Given the description of an element on the screen output the (x, y) to click on. 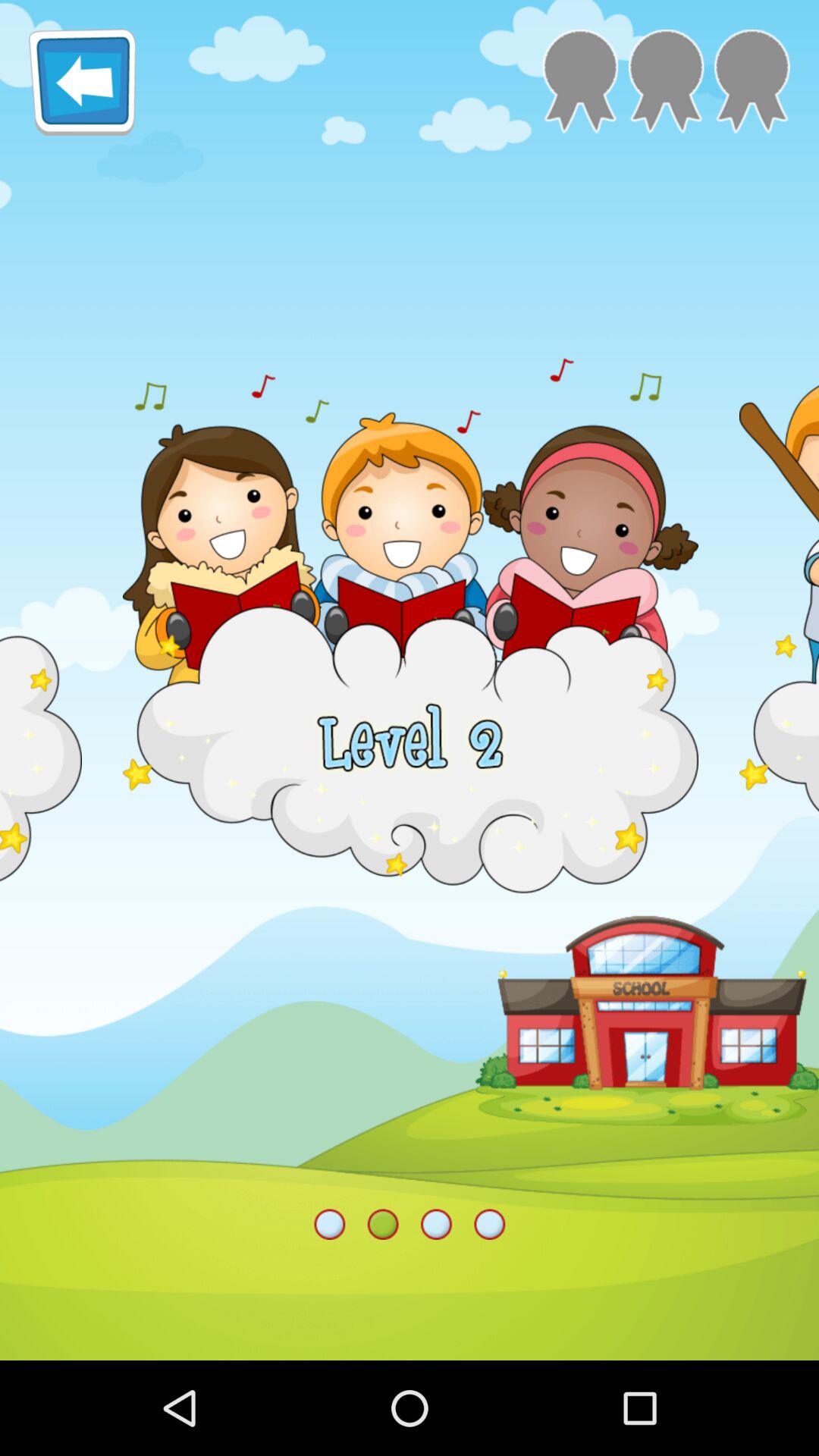
earn a star (751, 81)
